Given the description of an element on the screen output the (x, y) to click on. 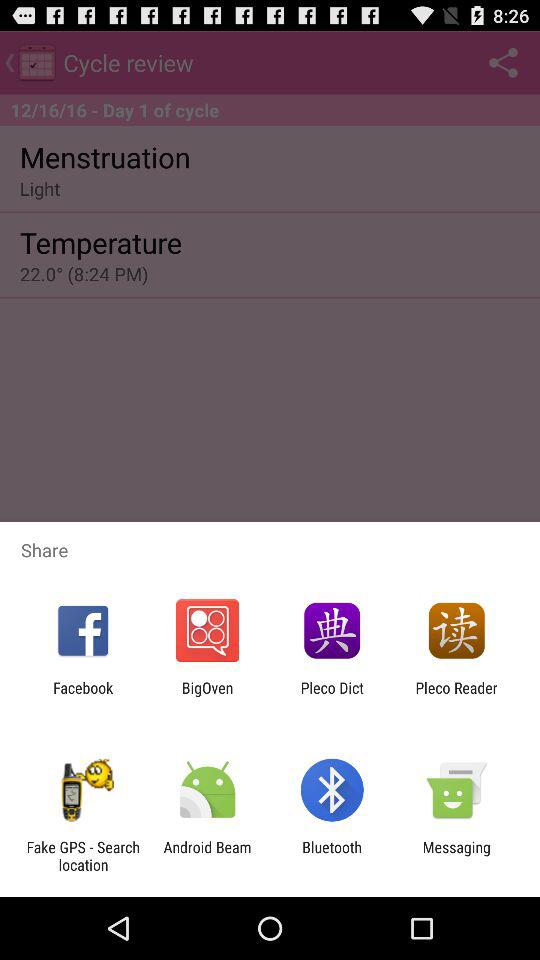
jump until the bigoven app (207, 696)
